Given the description of an element on the screen output the (x, y) to click on. 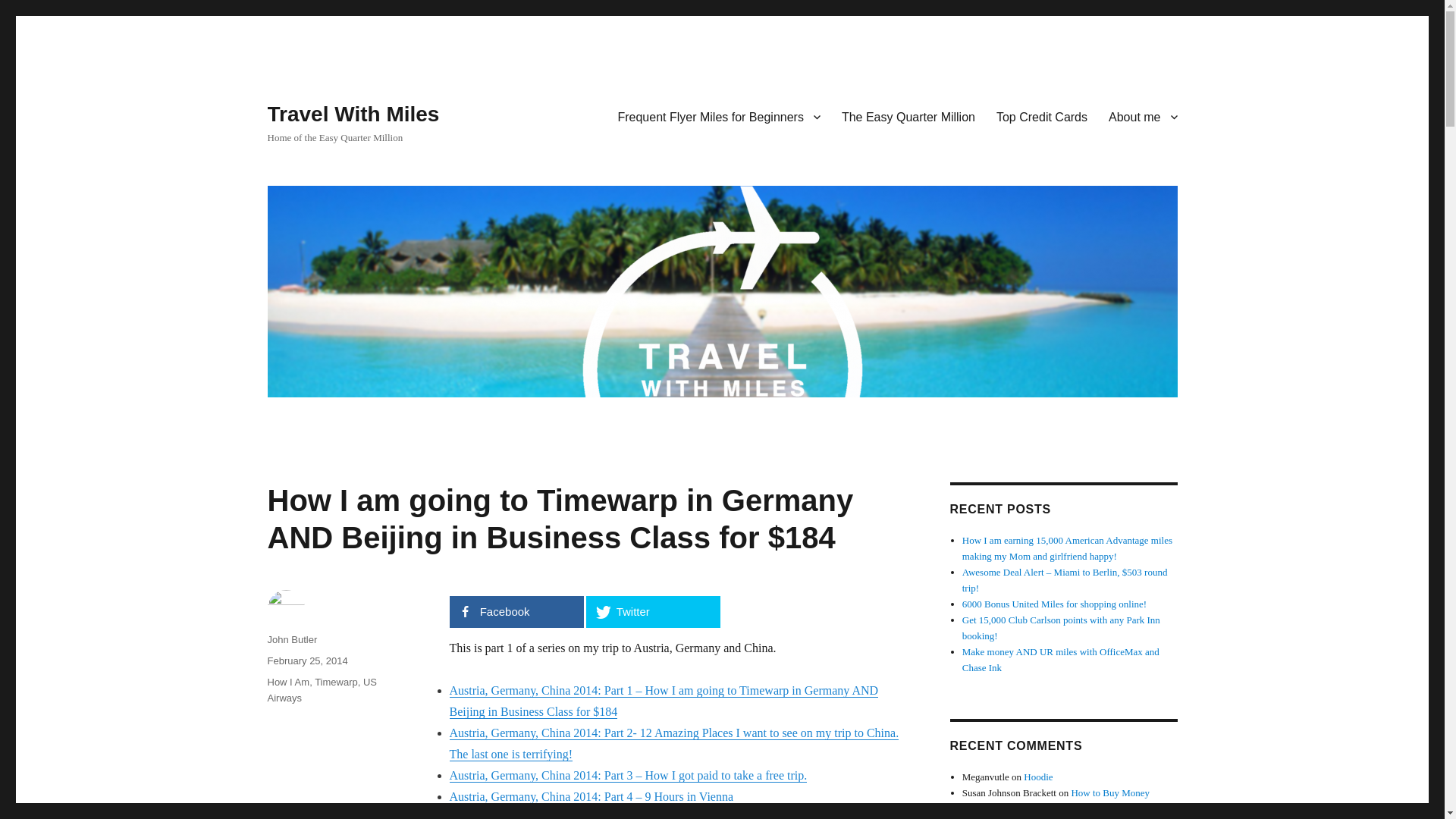
Top Credit Cards (1041, 116)
The Easy Quarter Million (908, 116)
Frequent Flyer Miles for Beginners (718, 116)
About me (1142, 116)
Twitter (652, 612)
Facebook (515, 612)
Travel With Miles (352, 114)
